Given the description of an element on the screen output the (x, y) to click on. 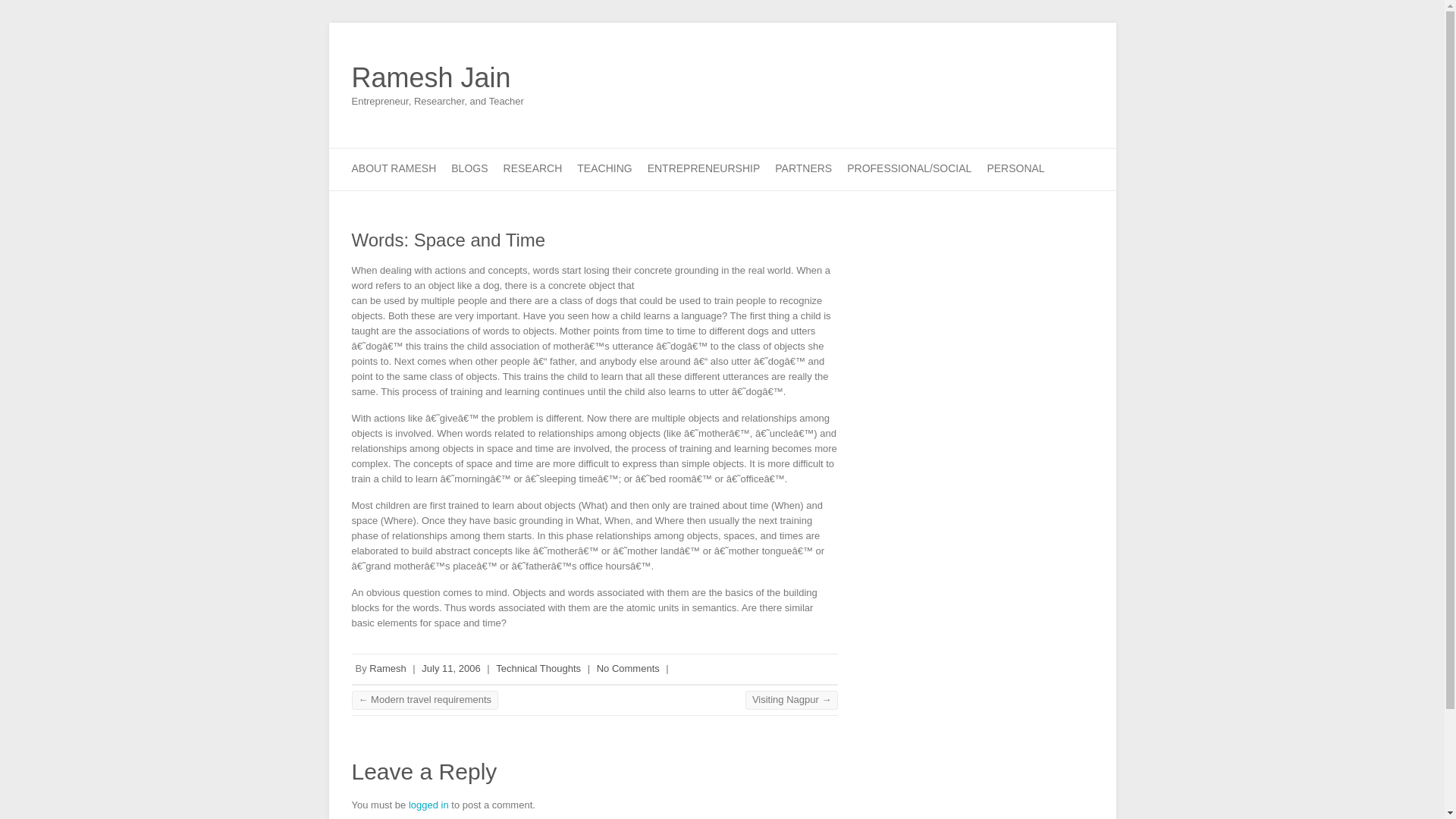
9:51 am (451, 668)
ENTREPRENEURSHIP (703, 169)
ABOUT RAMESH (394, 169)
Ramesh Jain (438, 78)
July 11, 2006 (451, 668)
Technical Thoughts (538, 668)
Ramesh Jain (438, 78)
PARTNERS (802, 169)
Ramesh (387, 668)
TEACHING (603, 169)
RESEARCH (532, 169)
PERSONAL (1015, 169)
BLOGS (469, 169)
No Comments (627, 668)
